Given the description of an element on the screen output the (x, y) to click on. 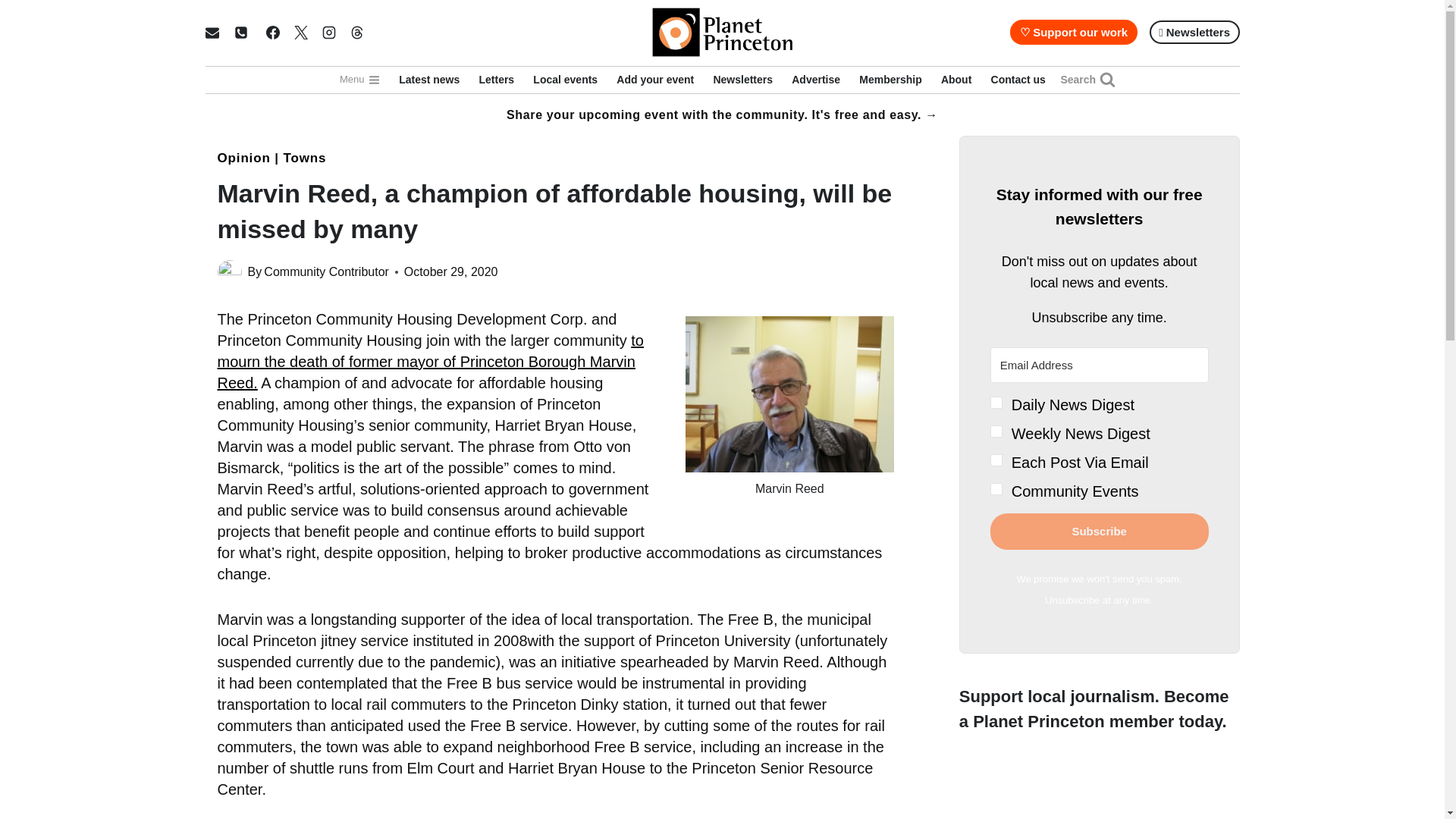
Opinion (242, 157)
About (956, 79)
Membership (890, 79)
Contact us (1018, 79)
Newsletters (743, 79)
Advertise (816, 79)
Latest news (429, 79)
Towns (304, 157)
Menu (360, 79)
Add your event (655, 79)
